Given the description of an element on the screen output the (x, y) to click on. 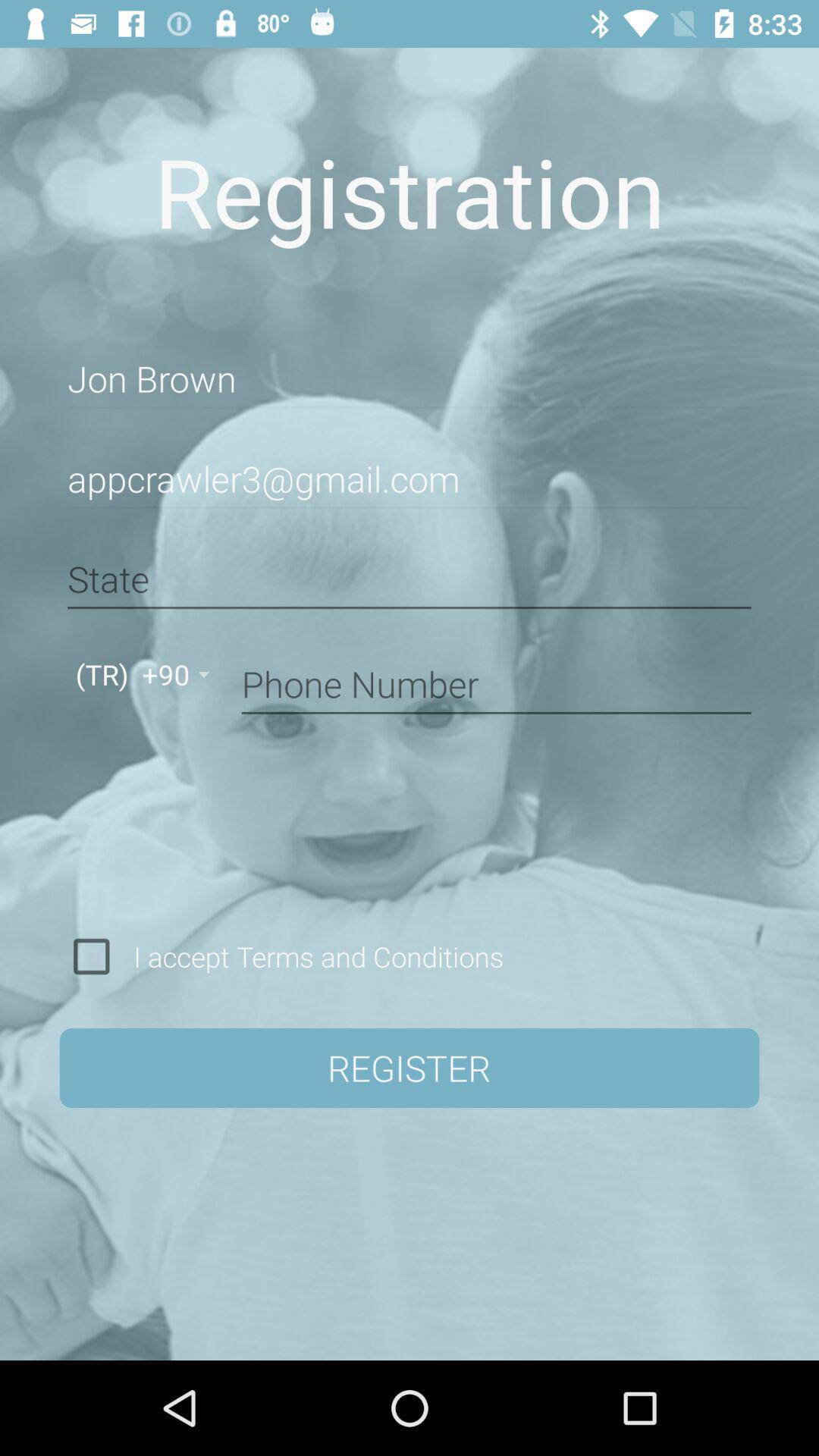
turn on item below jon brown item (409, 479)
